Given the description of an element on the screen output the (x, y) to click on. 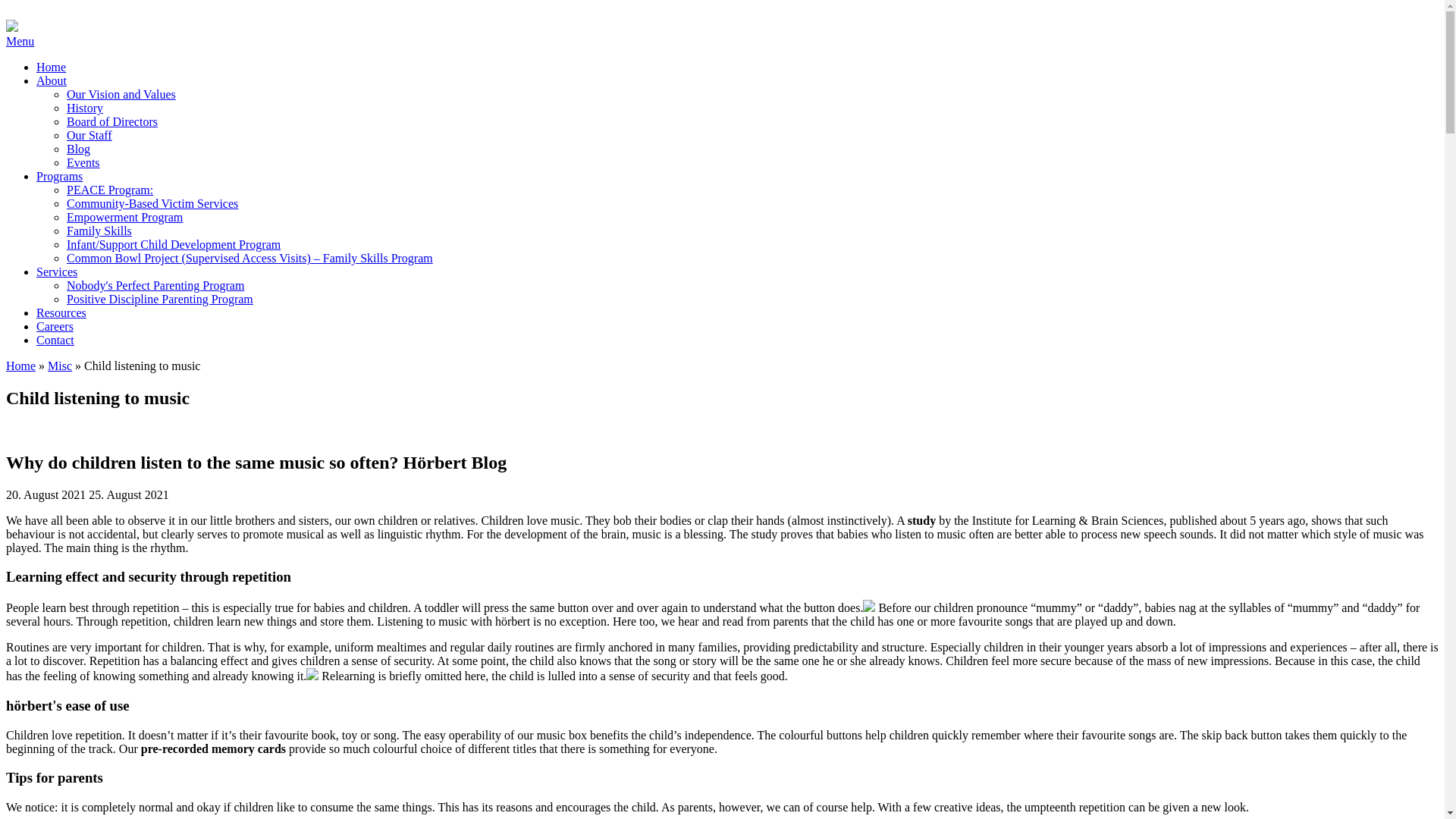
Empowerment Program (124, 216)
Misc (59, 365)
Our Vision and Values (121, 93)
Community-Based Victim Services (152, 203)
Home (50, 66)
Positive Discipline Parenting Program (159, 298)
Board of Directors (111, 121)
Services (56, 271)
Home (19, 365)
Resources (60, 312)
PEACE Program: (109, 189)
Menu (19, 41)
Events (83, 162)
Nobody's Perfect Parenting Program (155, 285)
Programs (59, 175)
